Given the description of an element on the screen output the (x, y) to click on. 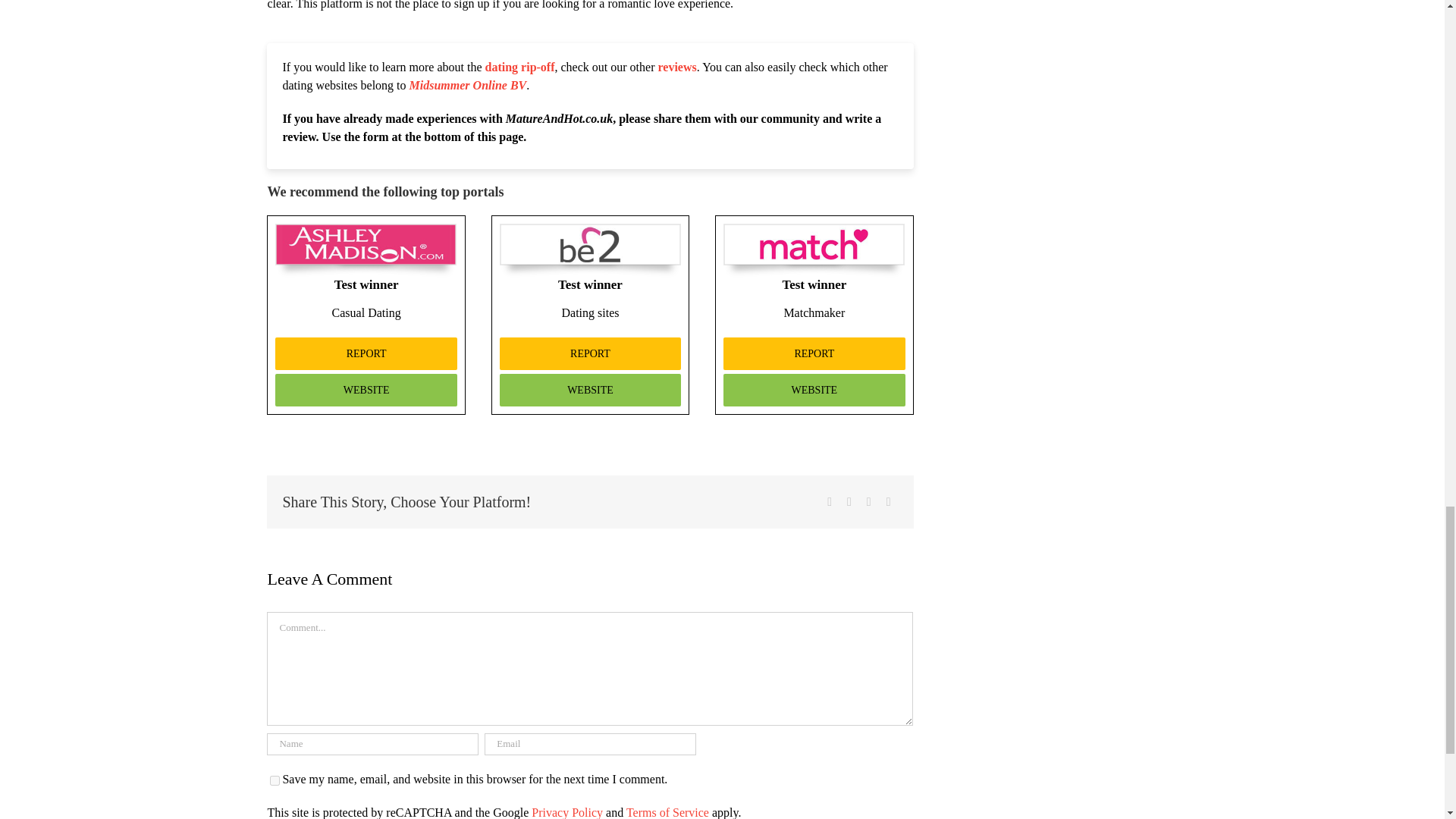
yes (274, 780)
Report (813, 353)
Website (590, 389)
Website (366, 389)
All reviews forMidsummer Online BV (468, 84)
Report (590, 353)
Website (813, 389)
Report (366, 353)
